Given the description of an element on the screen output the (x, y) to click on. 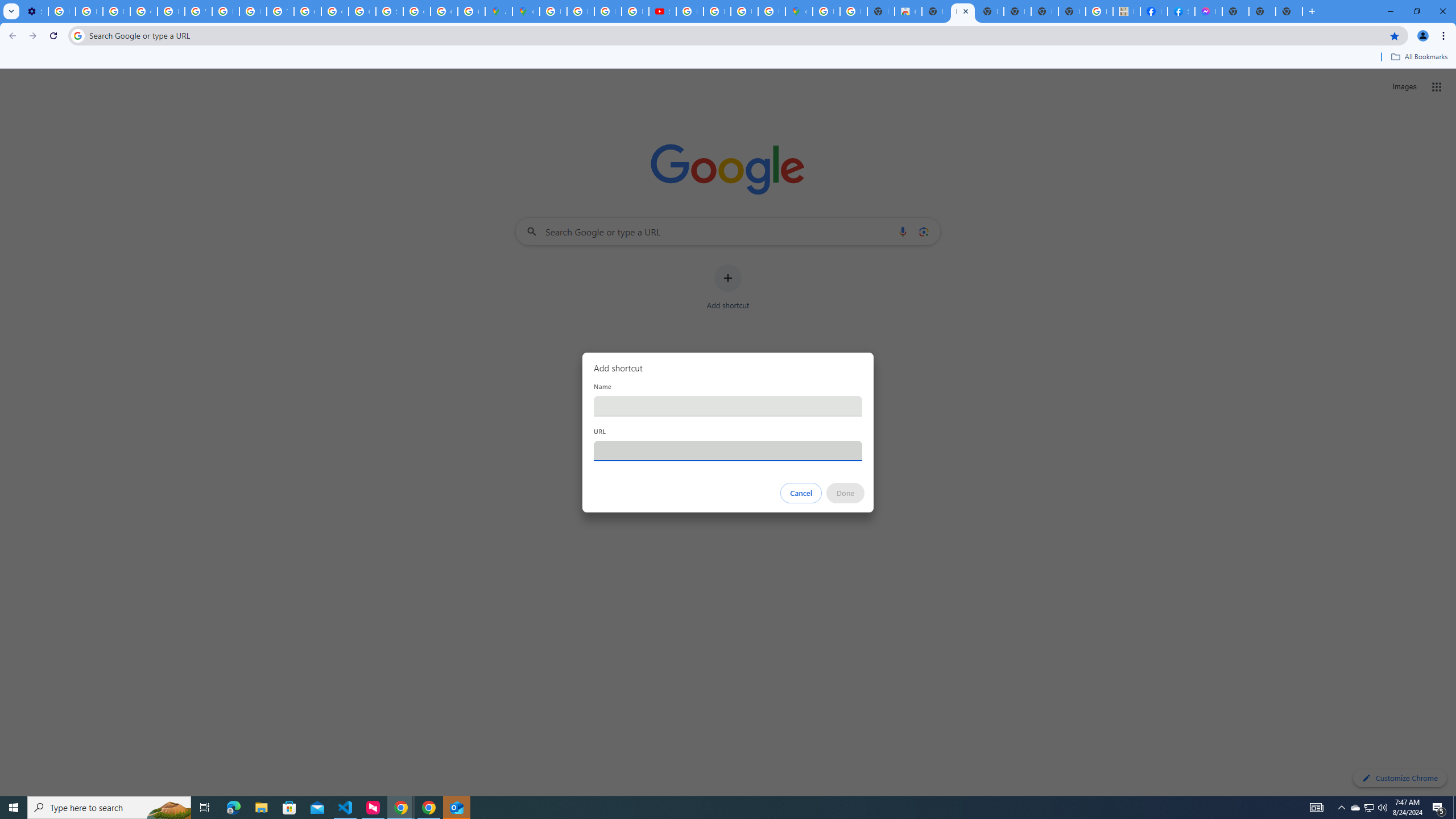
https://scholar.google.com/ (225, 11)
Name (727, 405)
Privacy Help Center - Policies Help (170, 11)
Chrome Web Store (908, 11)
MILEY CYRUS. (1126, 11)
All Bookmarks (1418, 56)
Privacy Help Center - Policies Help (253, 11)
Cancel (801, 493)
